Given the description of an element on the screen output the (x, y) to click on. 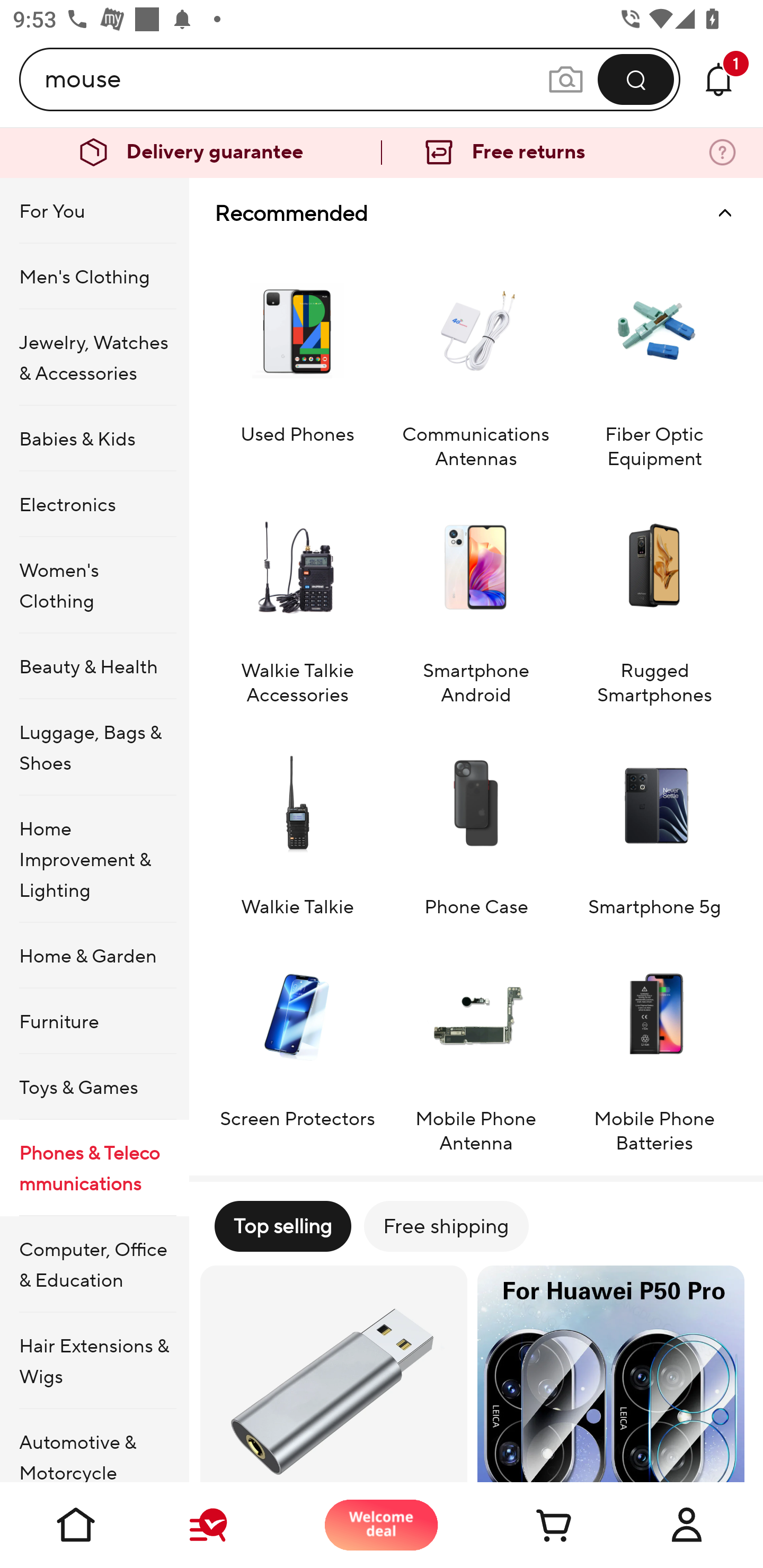
mouse Search query (295, 79)
Messages 1 (718, 79)
Delivery guarantee Free returns (381, 152)
For You (94, 210)
Recommended  (476, 212)
Men's Clothing (94, 275)
Used Phones (296, 359)
Communications Antennas (475, 359)
Fiber Optic Equipment (654, 359)
Jewelry, Watches & Accessories (94, 357)
Babies & Kids (94, 438)
Electronics (94, 504)
Walkie Talkie Accessories (296, 596)
Smartphone Android (475, 596)
Rugged Smartphones (654, 596)
Women's Clothing (94, 585)
Beauty & Health (94, 666)
Luggage, Bags & Shoes (94, 746)
Walkie Talkie (296, 820)
Phone Case (475, 820)
Smartphone 5g (654, 820)
Home Improvement & Lighting (94, 858)
Home & Garden (94, 955)
Screen Protectors (296, 1044)
Mobile Phone Antenna (475, 1044)
Mobile Phone Batteries (654, 1044)
Furniture (94, 1020)
Toys & Games (94, 1086)
Phones & Telecommunications (94, 1167)
Top selling (282, 1226)
Free shipping (445, 1226)
Computer, Office & Education (94, 1264)
Hair Extensions & Wigs (94, 1360)
Automotive & Motorcycle (94, 1445)
Home (76, 1524)
Cart (533, 1524)
Account (686, 1524)
